Given the description of an element on the screen output the (x, y) to click on. 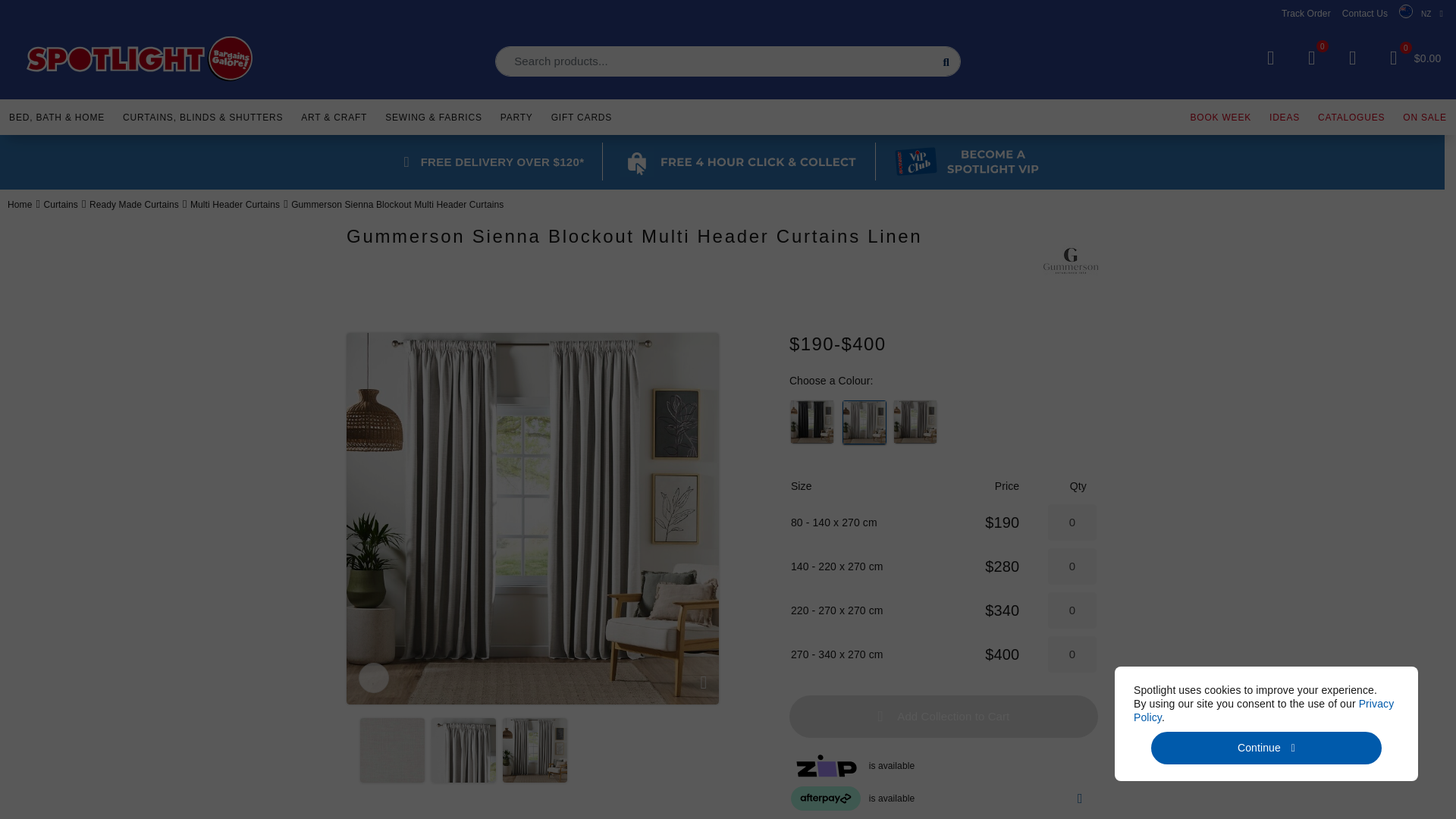
Spotlight (139, 58)
0 (1072, 565)
0 (1311, 57)
0 (1072, 609)
Contact Us (1364, 13)
Track Order (1305, 13)
Track Order (1305, 13)
Search for a product, brand or project (727, 60)
